Given the description of an element on the screen output the (x, y) to click on. 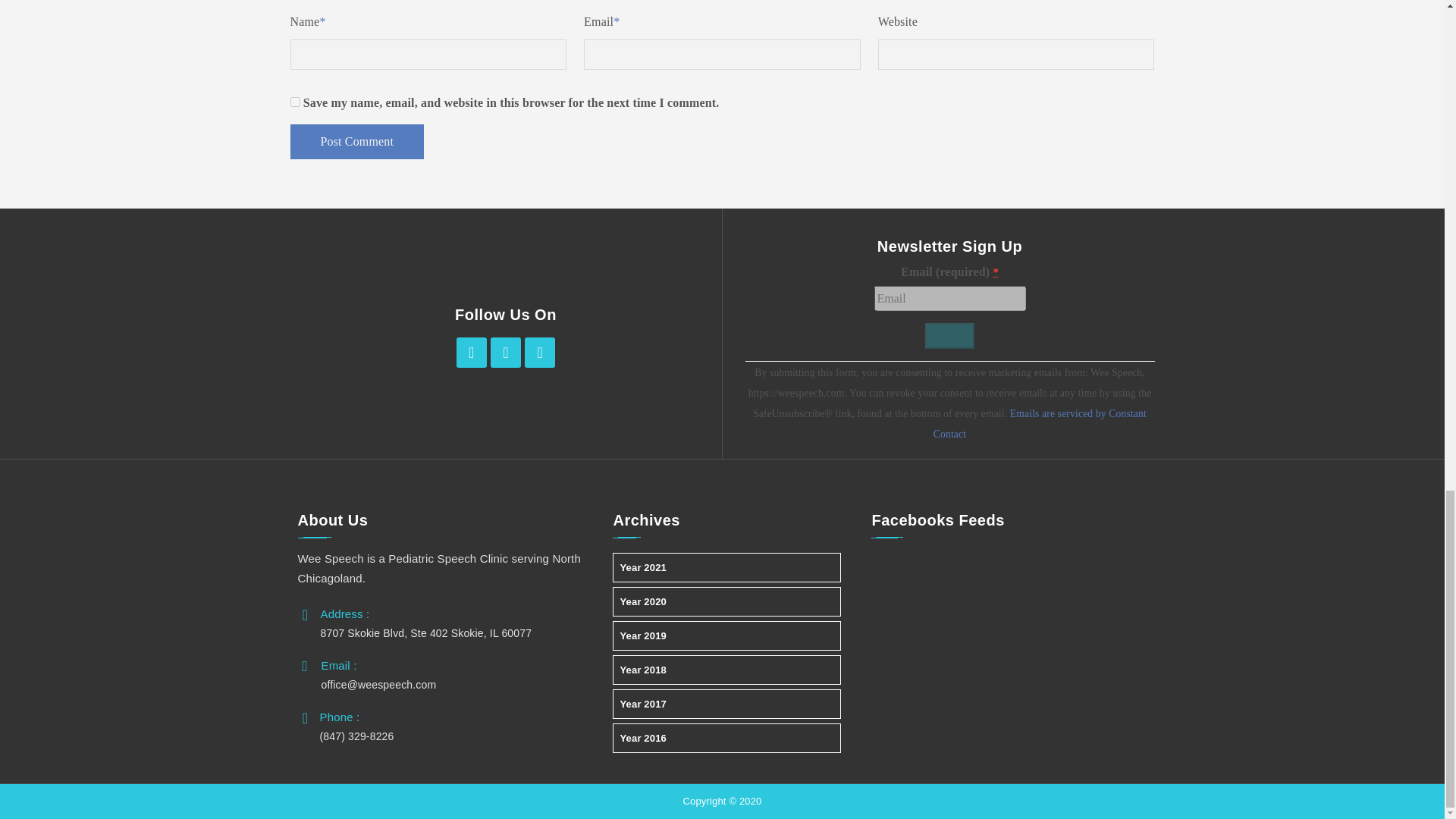
Post Comment (356, 141)
Sign up (949, 335)
yes (294, 102)
